Given the description of an element on the screen output the (x, y) to click on. 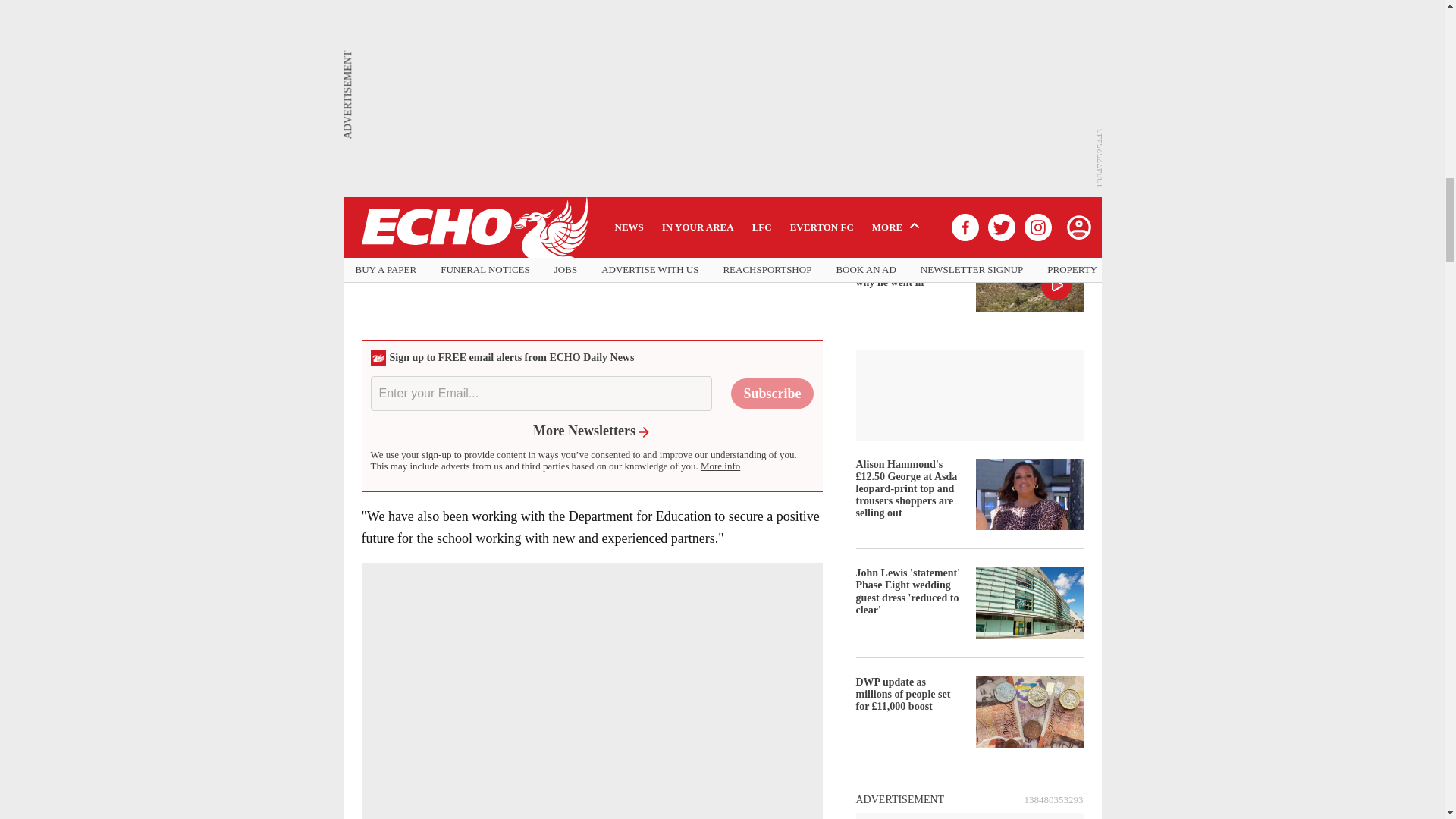
3rd party ad content (590, 236)
